Given the description of an element on the screen output the (x, y) to click on. 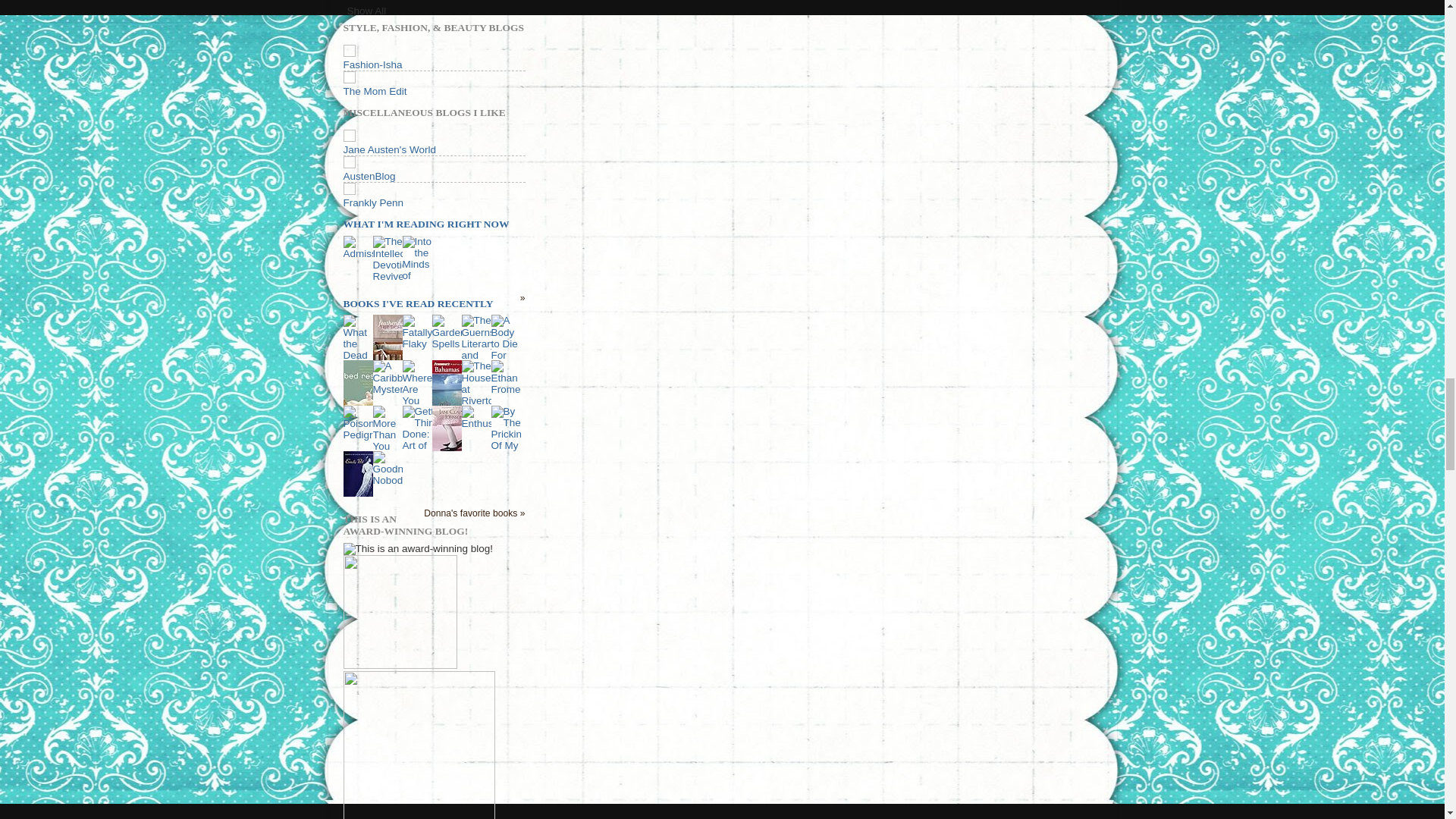
Admission (366, 253)
